Given the description of an element on the screen output the (x, y) to click on. 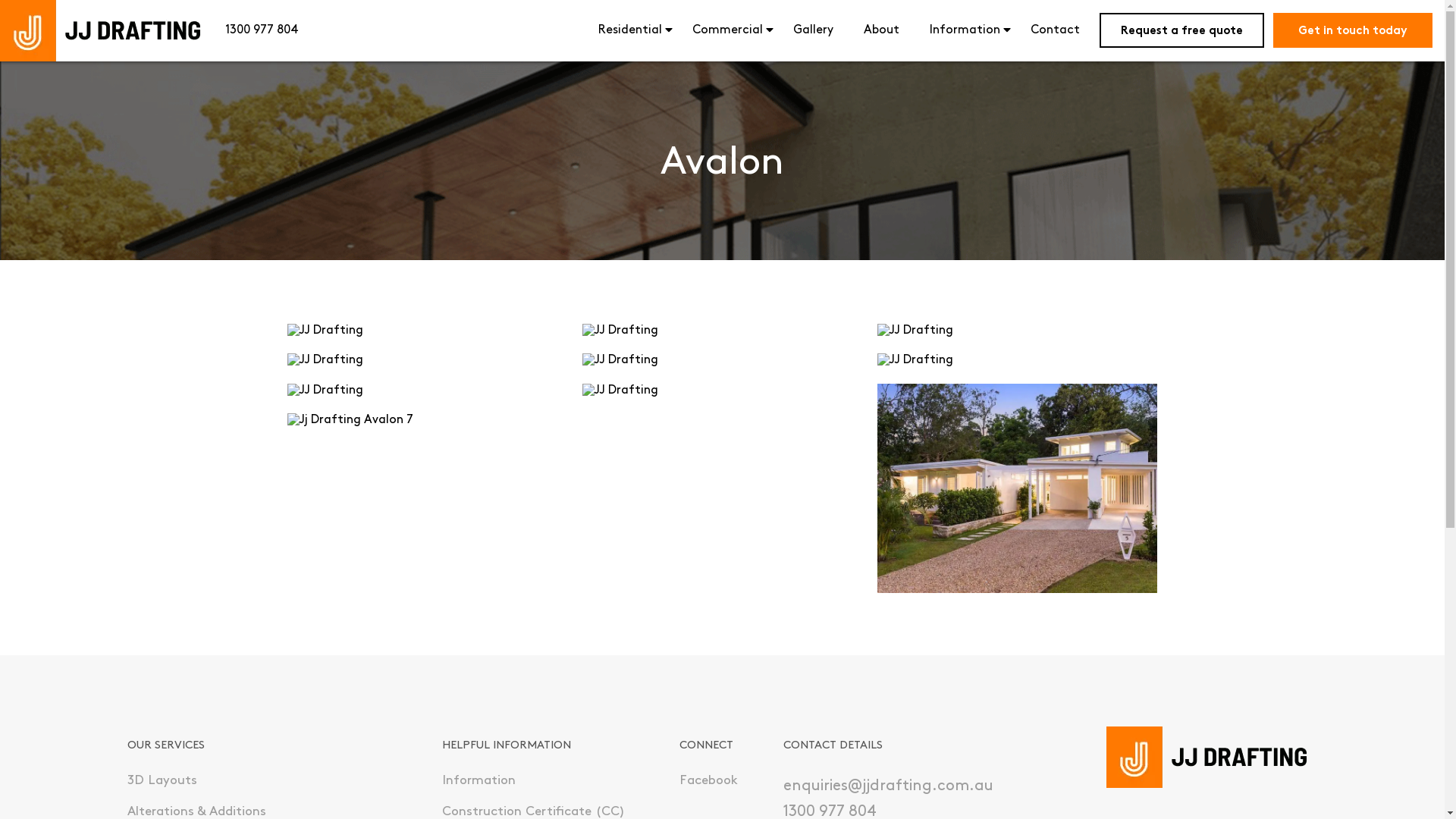
Request a free quote Element type: text (1181, 29)
Information Element type: text (477, 780)
Gallery Element type: text (813, 30)
Contact Element type: text (1055, 30)
Information Element type: text (964, 30)
enquiries@jjdrafting.com.au Element type: text (887, 786)
Get in touch today Element type: text (1352, 29)
About Element type: text (881, 30)
Residential Element type: text (630, 30)
Facebook Element type: text (708, 780)
3D Layouts Element type: text (162, 780)
1300 977 804 Element type: text (261, 30)
Commercial Element type: text (727, 30)
